Given the description of an element on the screen output the (x, y) to click on. 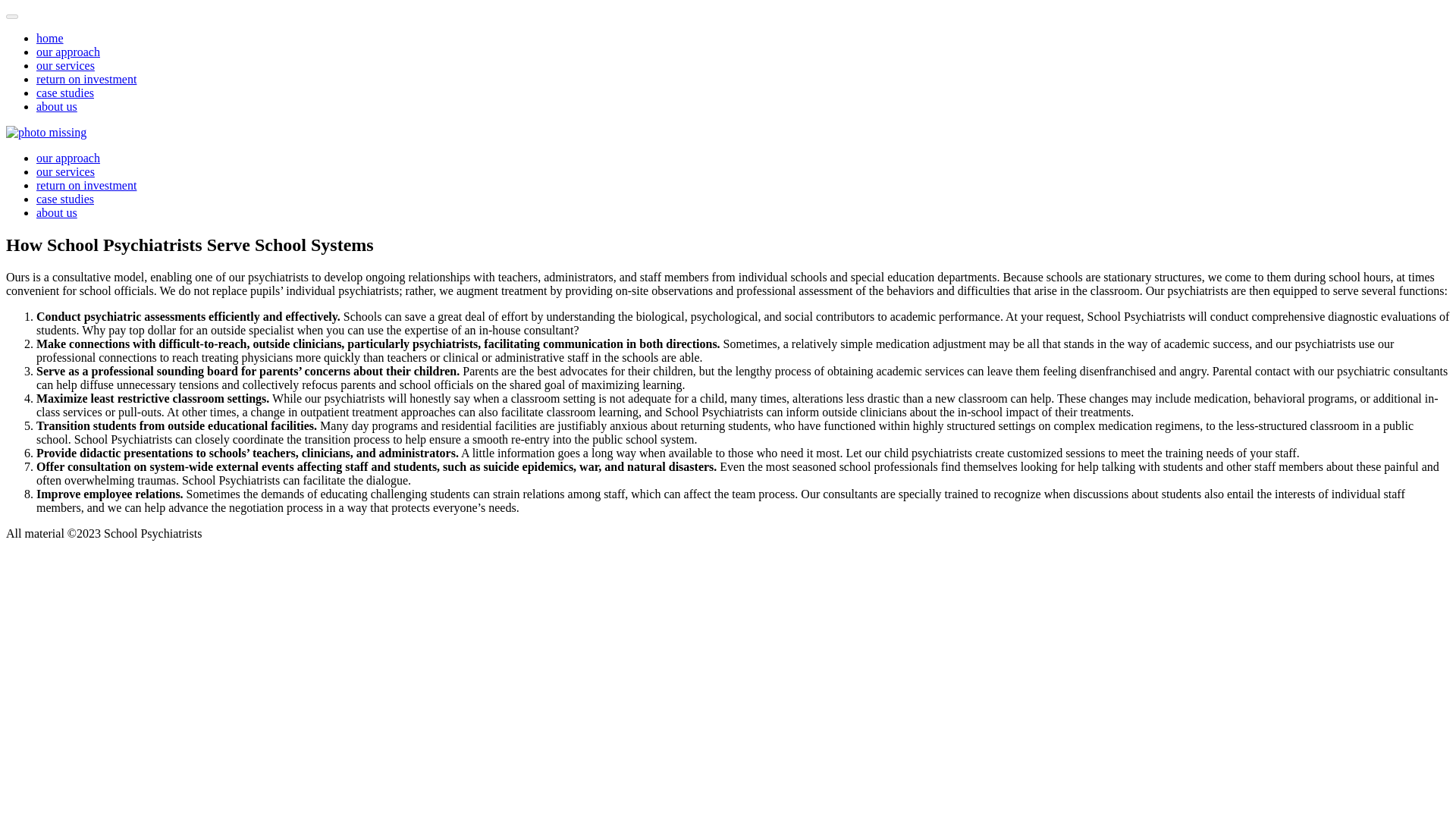
about us (56, 212)
about us (56, 106)
case studies (65, 198)
our approach (68, 157)
our services (65, 65)
our approach (68, 51)
our services (65, 171)
return on investment (86, 185)
home (50, 38)
case studies (65, 92)
